Given the description of an element on the screen output the (x, y) to click on. 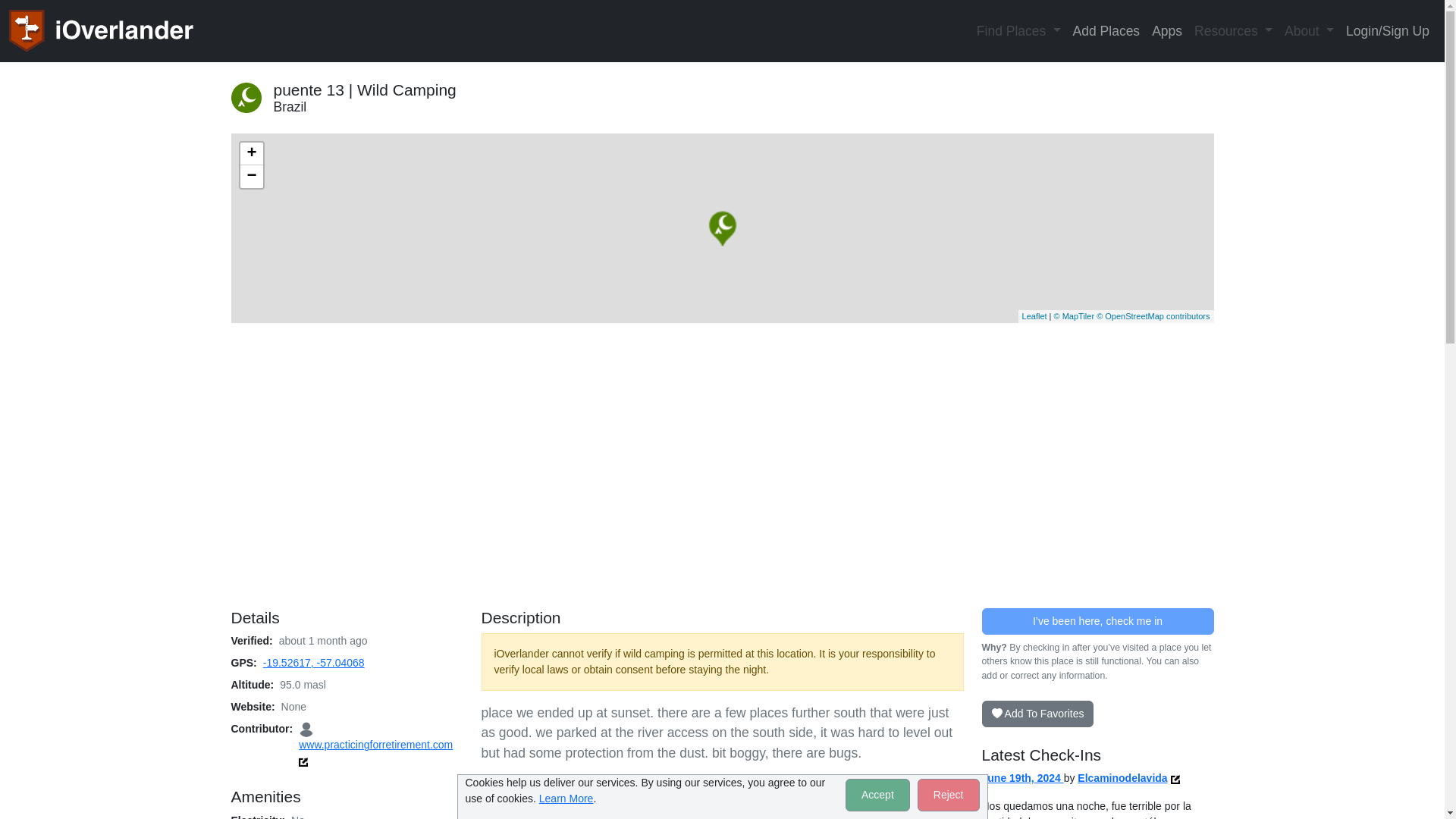
Add Places (1107, 30)
Zoom out (251, 176)
Zoom in (251, 153)
-19.52617, -57.04068 (314, 662)
www.practicingforretirement.com (375, 736)
Leaflet (1034, 316)
About (1308, 30)
Resources (1233, 30)
Find Places (1019, 30)
A JS library for interactive maps (1034, 316)
Apps (1166, 30)
